Given the description of an element on the screen output the (x, y) to click on. 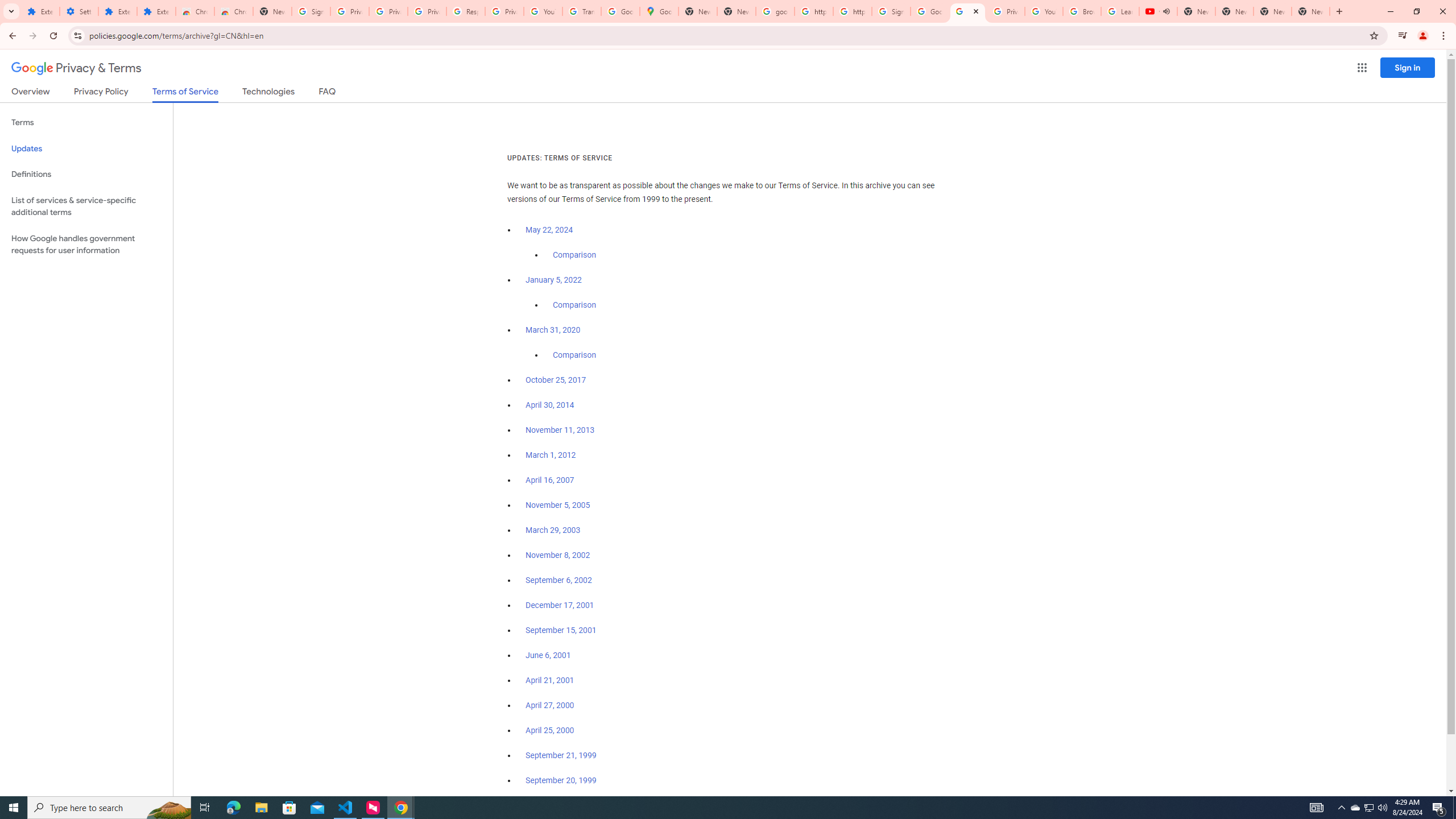
Privacy Policy (100, 93)
Sign in - Google Accounts (890, 11)
Google Maps (659, 11)
March 31, 2020 (552, 330)
https://scholar.google.com/ (813, 11)
New Tab (272, 11)
October 25, 2017 (555, 380)
